Given the description of an element on the screen output the (x, y) to click on. 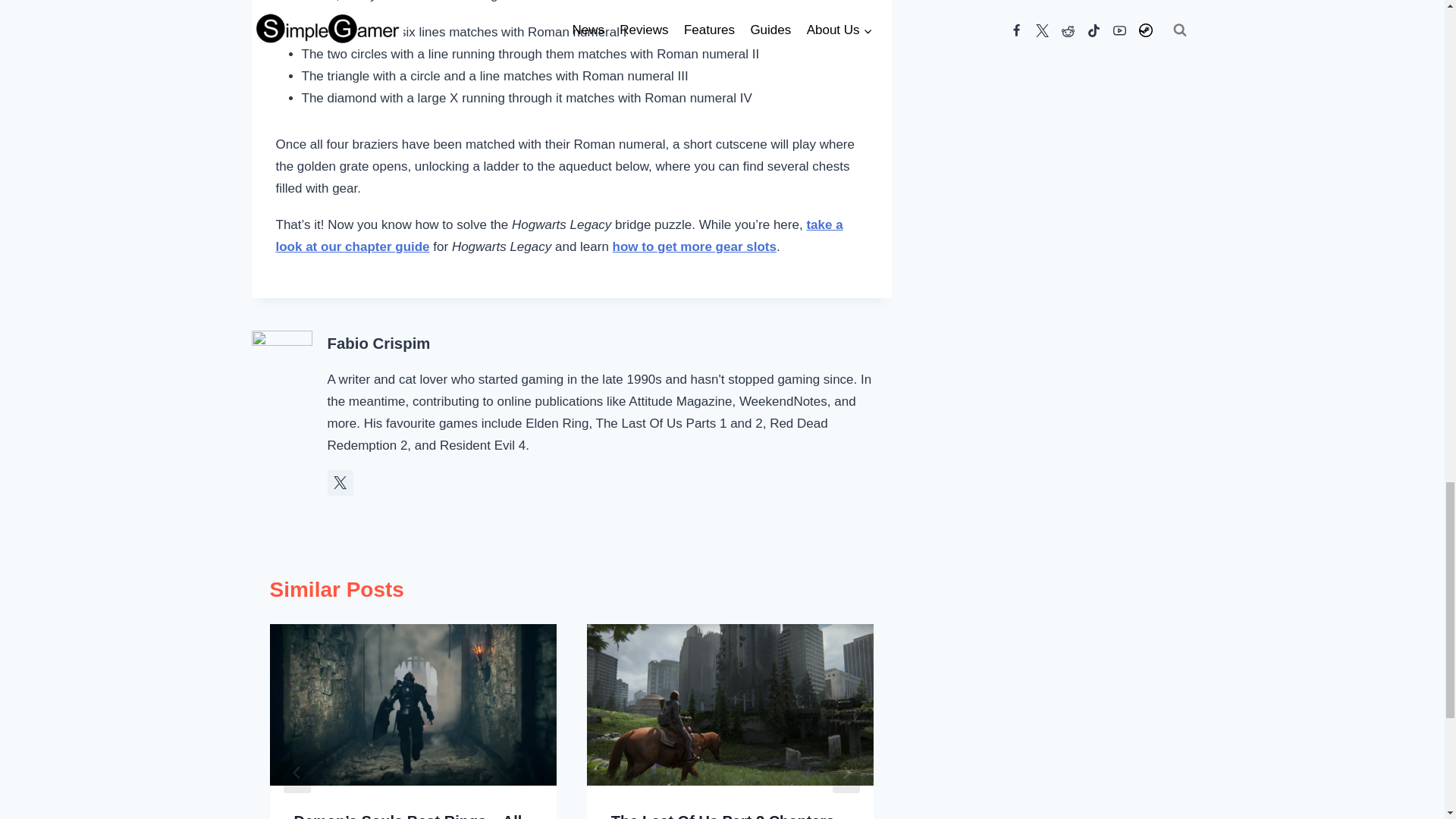
how to get more gear slots (694, 246)
Posts by Fabio Crispim (378, 343)
Fabio Crispim (378, 343)
Follow Fabio Crispim on X formerly Twitter (340, 483)
The Last Of Us Part 2 Chapters List: How Many Are There? (722, 816)
take a look at our chapter guide (559, 235)
